Given the description of an element on the screen output the (x, y) to click on. 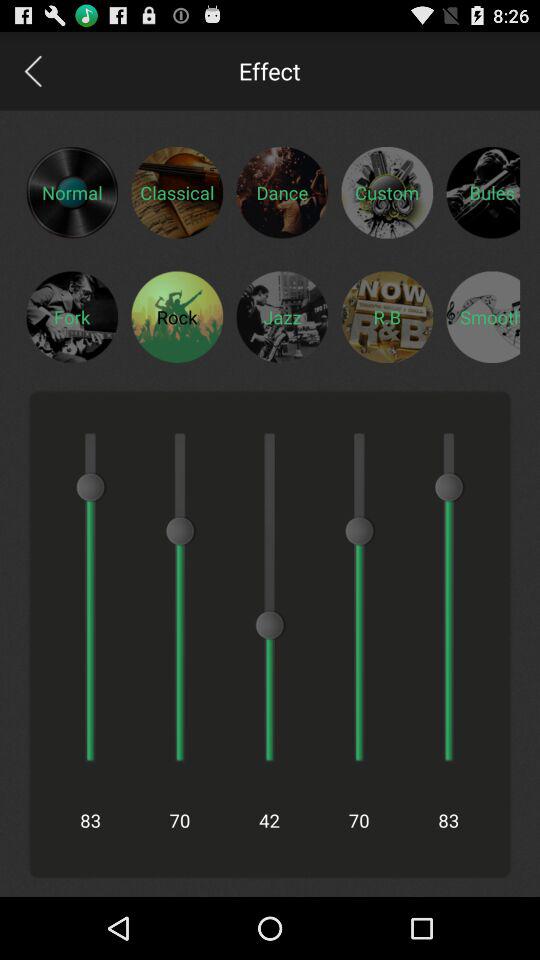
r.b (387, 316)
